Given the description of an element on the screen output the (x, y) to click on. 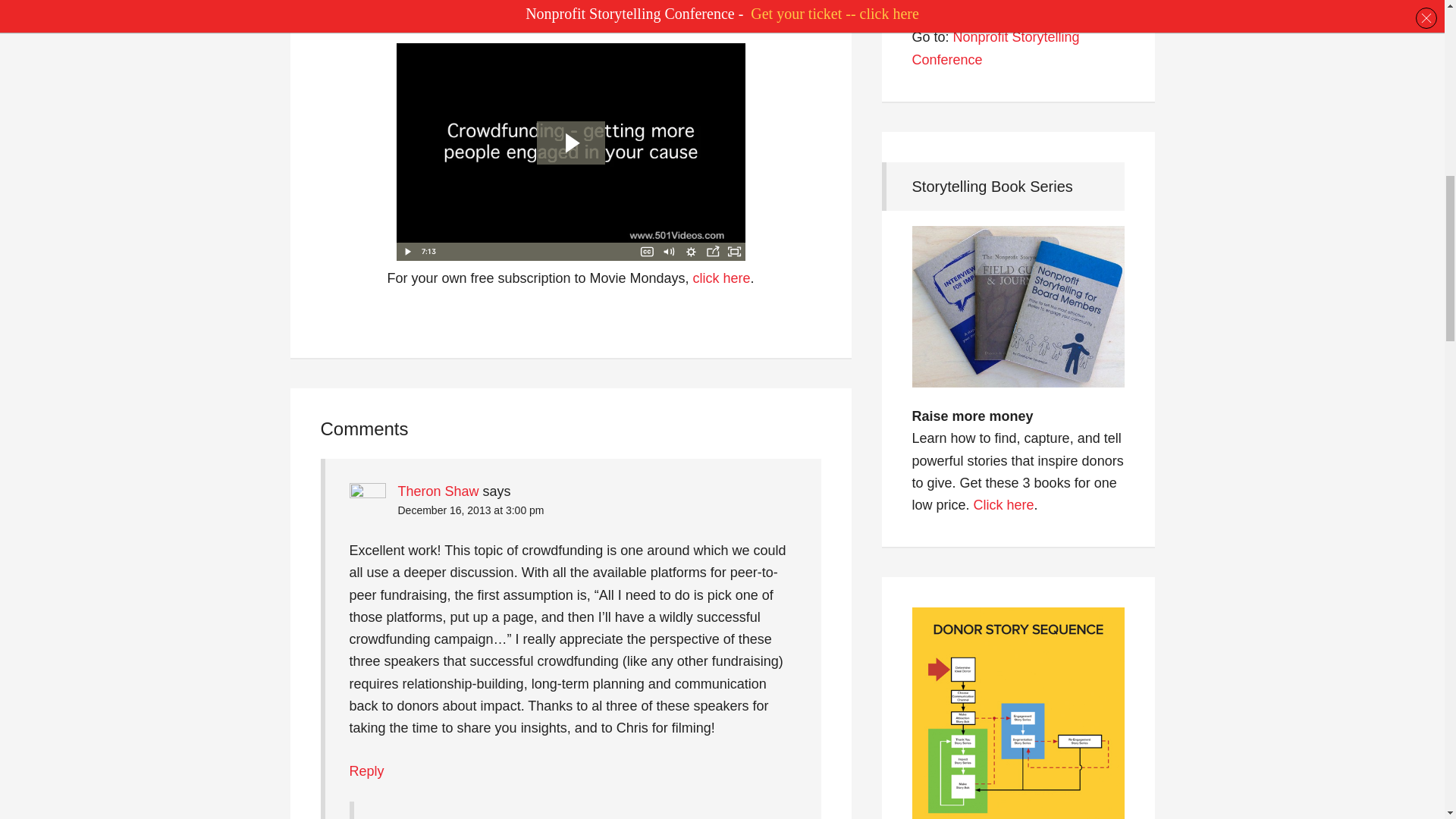
click here (722, 278)
Nonprofit Storytelling Conference (994, 47)
Reply (366, 770)
Click here for Your FREE subscription to Movie Mondays (563, 8)
Nonprofit Storytelling Book Series (1003, 504)
December 16, 2013 at 3:00 pm (470, 510)
Sign Up for Movie Mondays (563, 8)
Theron Shaw (438, 491)
Nonprofit Storytelling Book Series (1017, 325)
Movie Mondays for Fundraising Professionals (722, 278)
